Given the description of an element on the screen output the (x, y) to click on. 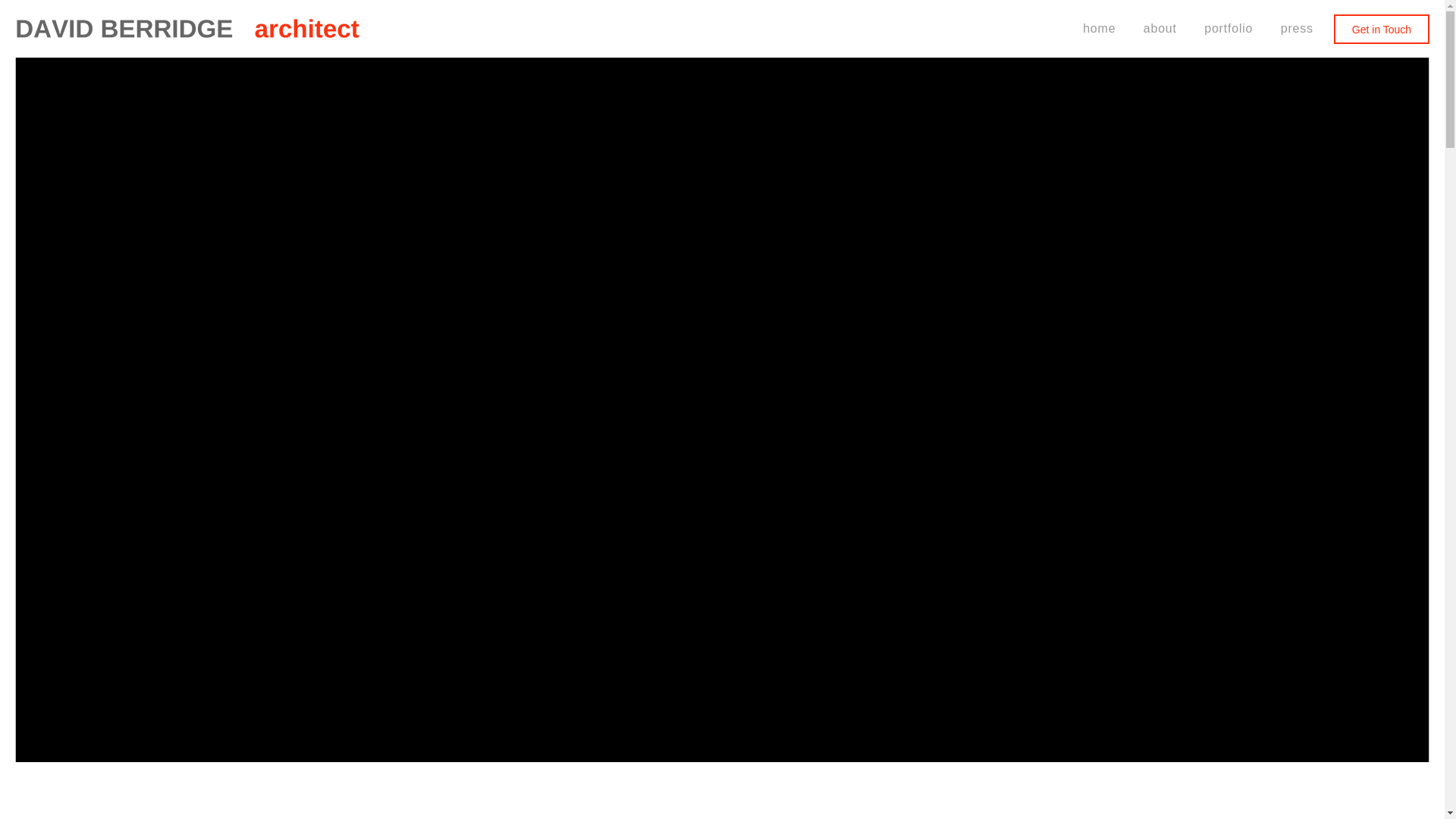
home (187, 28)
Get in Touch (1381, 29)
about (1160, 28)
press (1297, 28)
home (1099, 28)
